Given the description of an element on the screen output the (x, y) to click on. 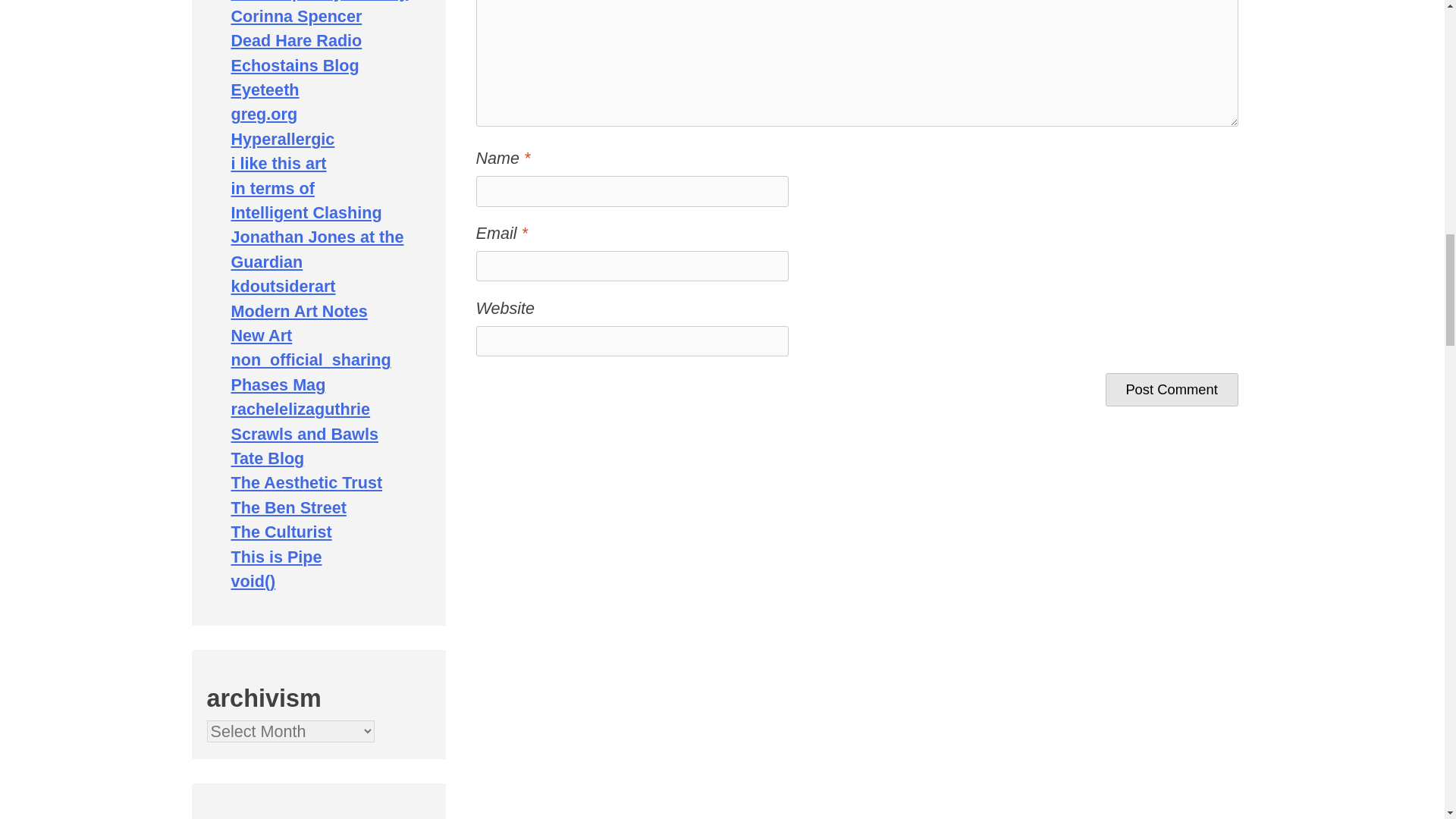
Post Comment (1172, 389)
Post Comment (1172, 389)
